Given the description of an element on the screen output the (x, y) to click on. 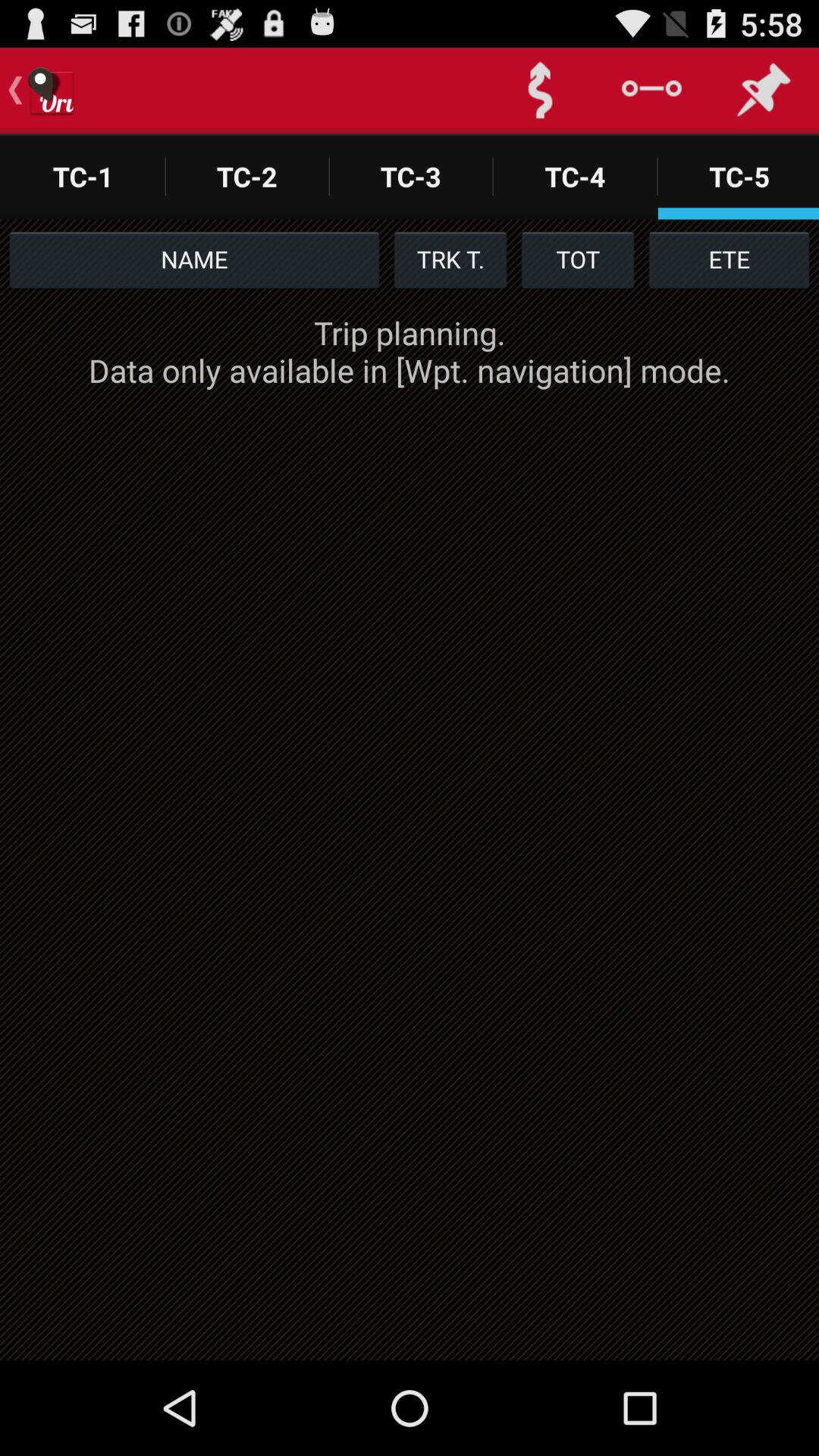
turn off the icon below the tc-4 app (577, 259)
